Given the description of an element on the screen output the (x, y) to click on. 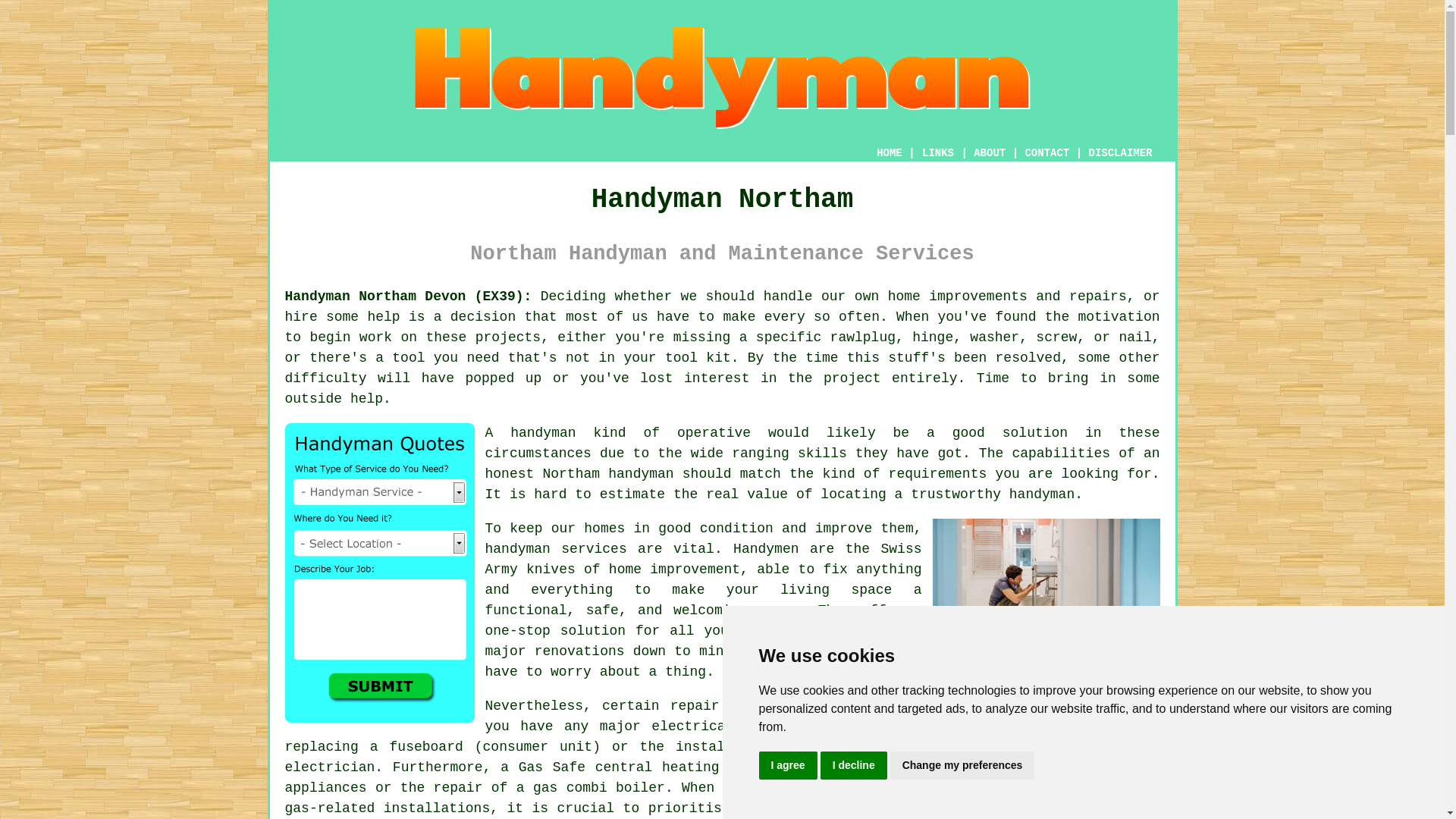
LINKS (938, 152)
Change my preferences (962, 765)
HOME (889, 152)
I decline (853, 765)
I agree (787, 765)
